Given the description of an element on the screen output the (x, y) to click on. 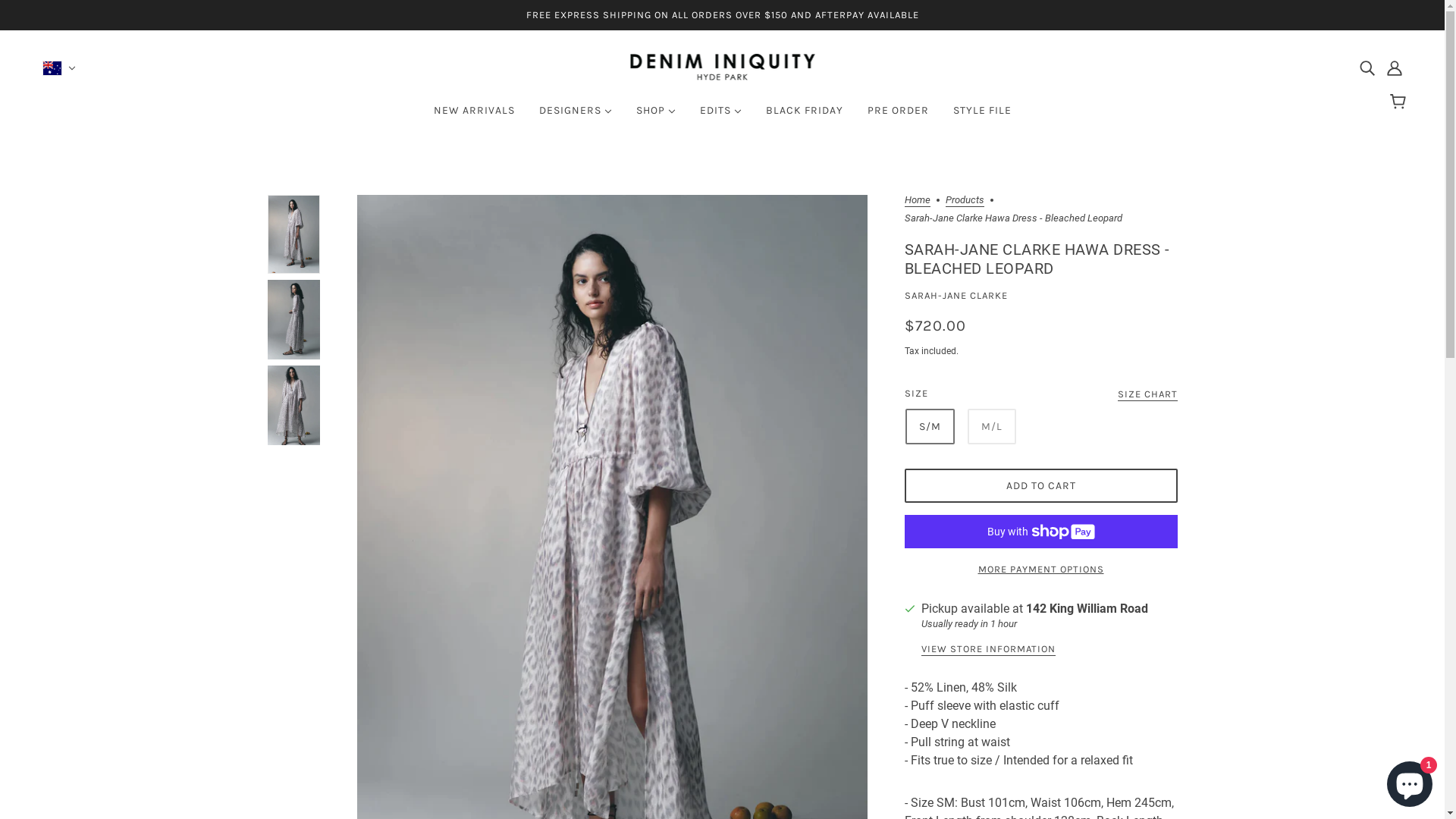
SIZE CHART Element type: text (1147, 395)
BLACK FRIDAY Element type: text (804, 116)
Shopify online store chat Element type: hover (1409, 780)
STYLE FILE Element type: text (981, 116)
VIEW STORE INFORMATION Element type: text (987, 649)
Home Element type: text (916, 200)
EDITS  Element type: text (720, 116)
MORE PAYMENT OPTIONS Element type: text (1039, 563)
Denim Iniquity Element type: hover (722, 75)
SARAH-JANE CLARKE Element type: text (955, 295)
PRE ORDER Element type: text (898, 116)
Products Element type: text (963, 200)
142 King William Road Element type: text (1086, 608)
NEW ARRIVALS Element type: text (474, 116)
SHOP  Element type: text (655, 116)
ADD TO CART Element type: text (1039, 485)
DESIGNERS  Element type: text (574, 116)
